Given the description of an element on the screen output the (x, y) to click on. 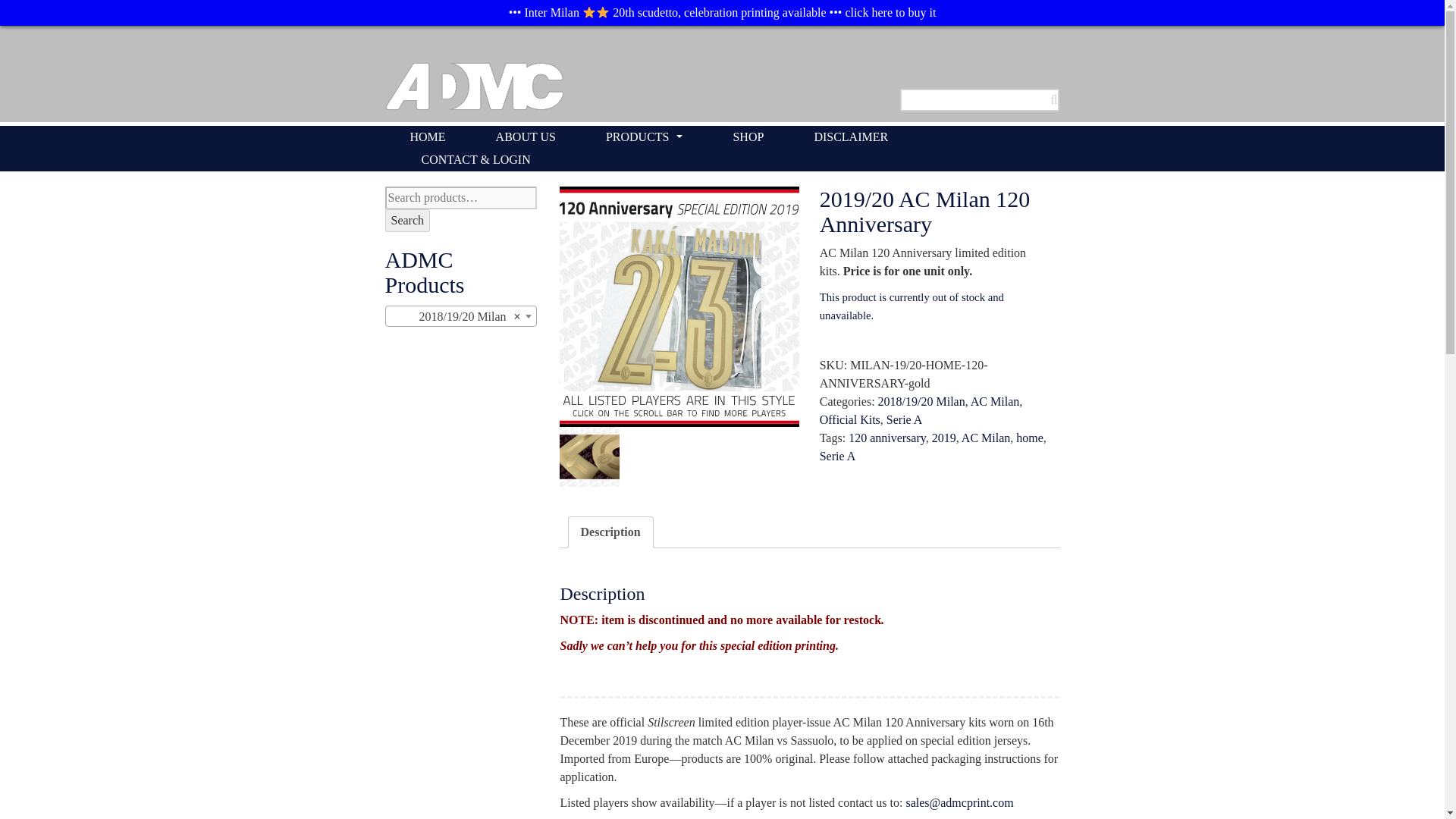
Official Kits (849, 419)
120 anniversary (887, 437)
SHOP (748, 137)
AC Milan (985, 437)
PRODUCTS (643, 137)
DISCLAIMER (850, 137)
Description (610, 531)
ABOUT US (525, 137)
AC Milan (995, 400)
DISCLAIMER (850, 137)
HOME (427, 137)
PRODUCTS ... (643, 137)
Search (407, 220)
ABOUT US (525, 137)
